Given the description of an element on the screen output the (x, y) to click on. 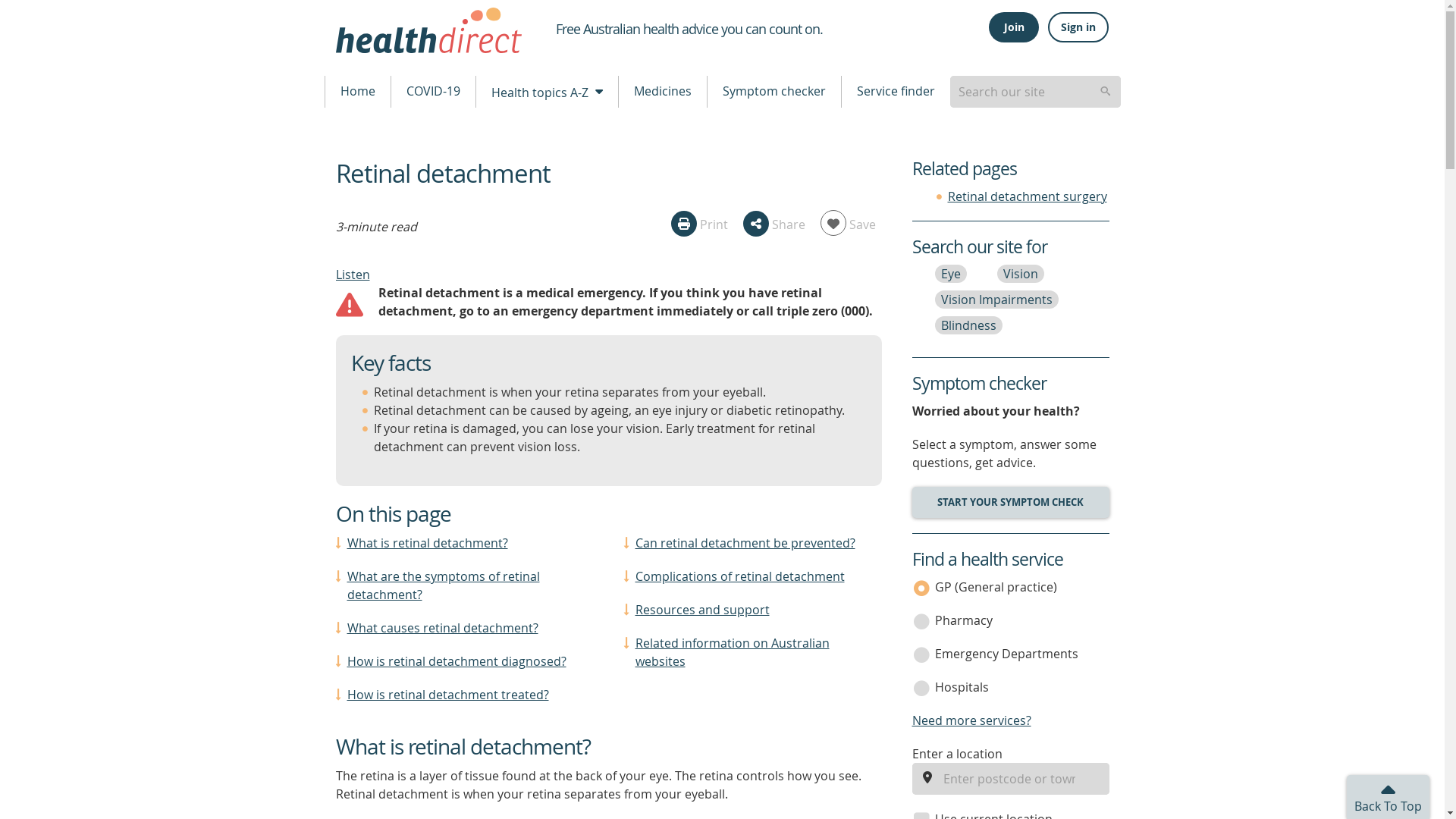
Search results for:Eye (950, 273)
Listen to this page using ReadSpeaker (351, 274)
COVID-19 (433, 91)
Suggestion options (1034, 91)
Join (1013, 27)
Search results for:Vision Impairments (996, 299)
Health topics A-Z (546, 91)
Search results for:Vision (1019, 273)
Retinal detachment surgery (1026, 196)
Search results for:Blindness (967, 325)
